Given the description of an element on the screen output the (x, y) to click on. 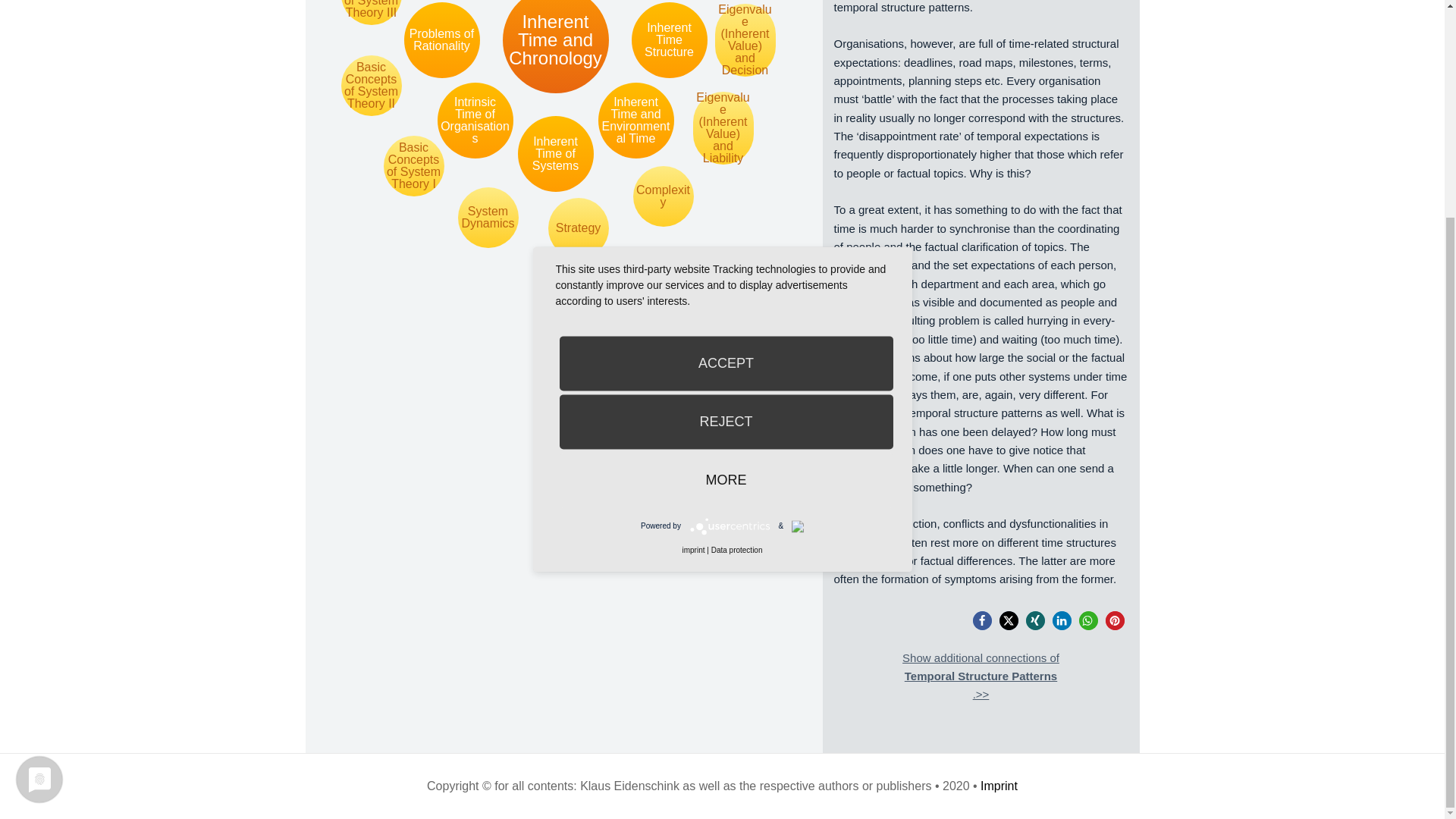
Inherent Time and Chronology (555, 46)
Basic Concepts of System Theory III (370, 12)
Complexity (662, 196)
Basic Concepts of System Theory I (414, 165)
Intrinsic Time of Organisations (474, 120)
Problems of Rationality (441, 39)
Strategy (577, 228)
Basic Concepts of System Theory II (370, 85)
Inherent Time Structure (668, 39)
Inherent Time and Environmental Time (634, 120)
System Dynamics (488, 217)
Inherent Time of Systems (554, 153)
